Given the description of an element on the screen output the (x, y) to click on. 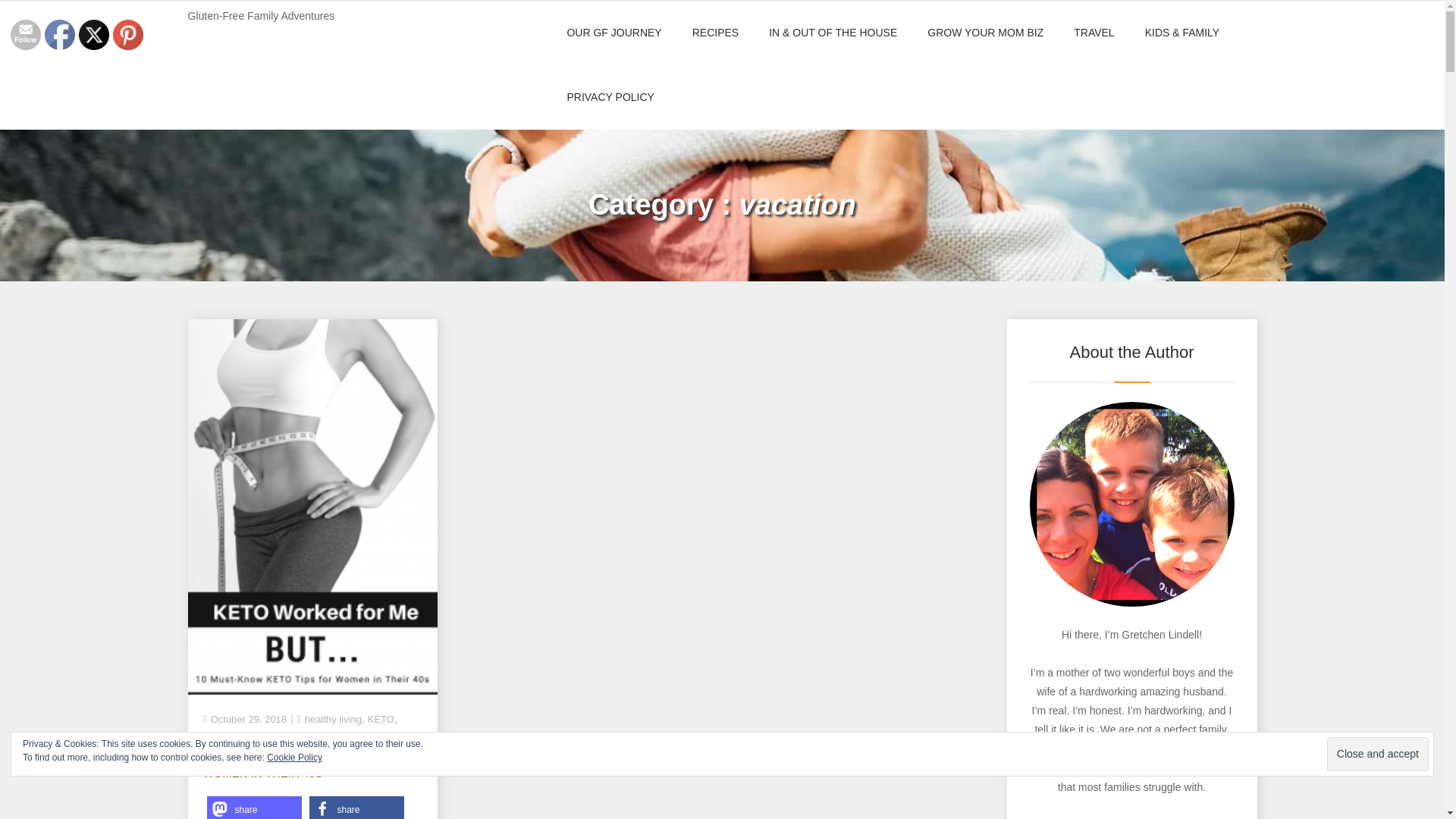
October 29, 2018 (248, 718)
TRAVEL (1093, 32)
healthy living (332, 718)
RECIPES (715, 32)
Close and accept (1377, 754)
perimenopause (236, 738)
share  (356, 807)
OUR GF JOURNEY (614, 32)
Facebook (60, 34)
Share on Facebook (356, 807)
